Given the description of an element on the screen output the (x, y) to click on. 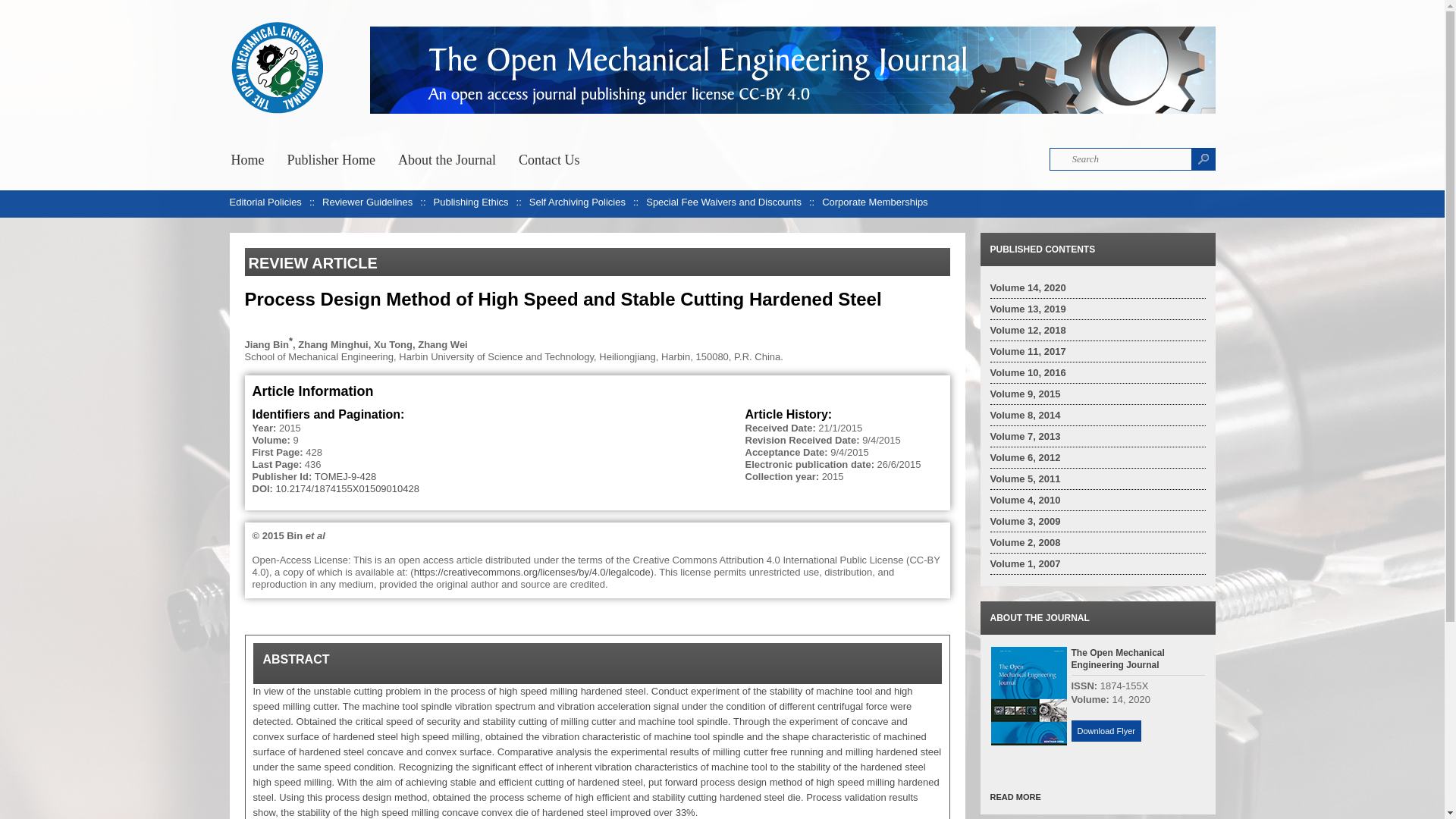
Volume 14, 2020 (1027, 287)
About the Journal (446, 157)
Volume 5, 2011 (1025, 478)
Volume 1, 2007 (1025, 563)
Volume 13, 2019 (1027, 308)
Editorial Policies (264, 202)
Volume 11, 2017 (1027, 351)
Download Flyer (1105, 731)
Reviewer Guidelines (366, 202)
Volume 3, 2009 (1025, 521)
